Given the description of an element on the screen output the (x, y) to click on. 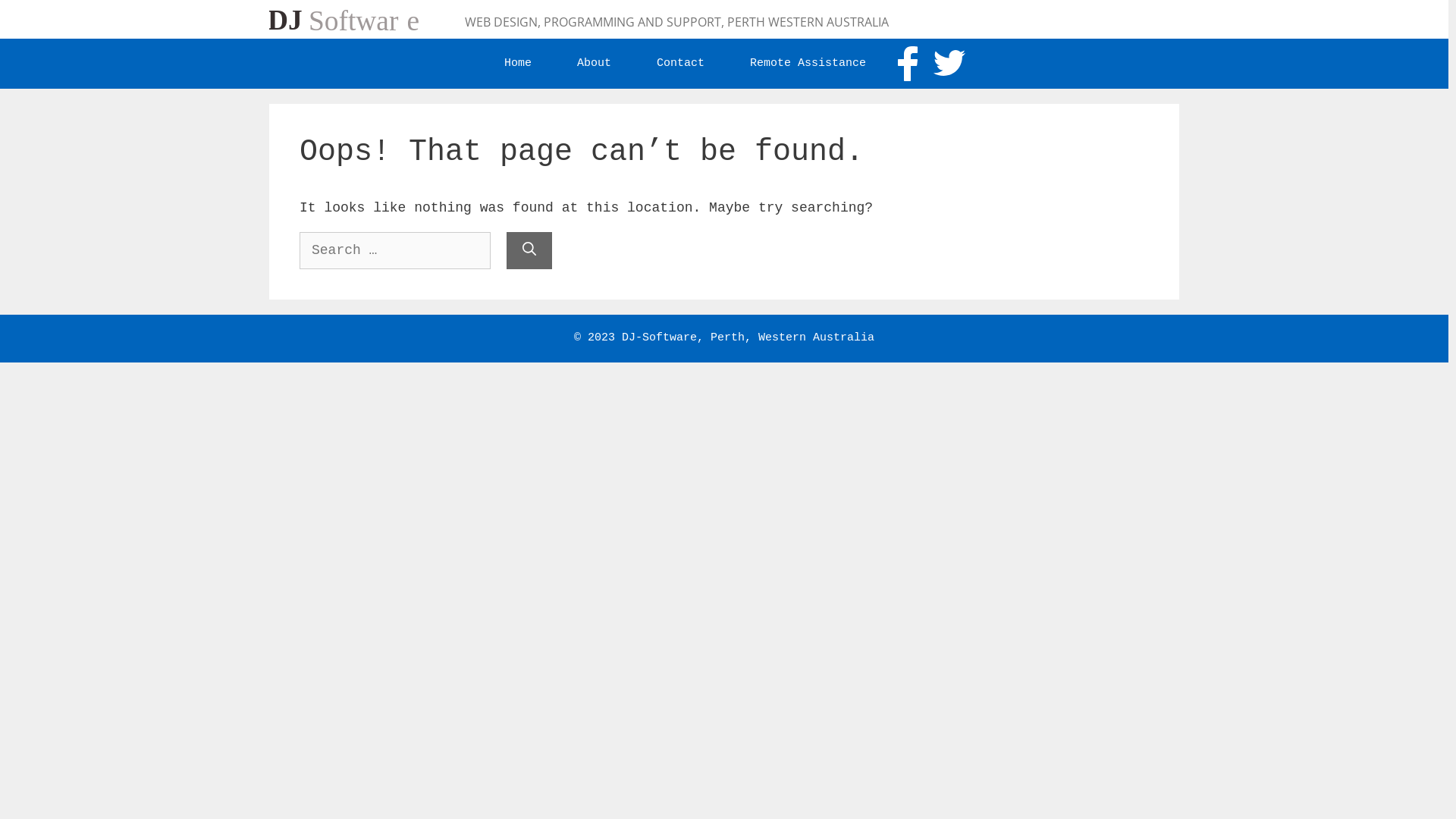
Home Element type: text (517, 63)
facebook_white Element type: hover (907, 63)
twitter_white Element type: hover (948, 62)
About Element type: text (593, 63)
Remote Assistance Element type: text (807, 63)
Search for: Element type: hover (394, 250)
Contact Element type: text (680, 63)
